Given the description of an element on the screen output the (x, y) to click on. 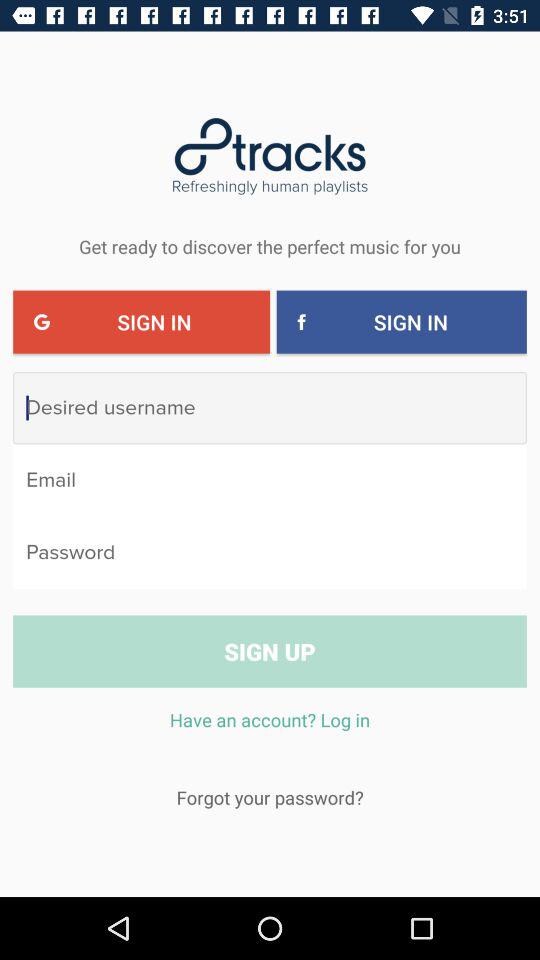
scroll until sign up icon (269, 651)
